Given the description of an element on the screen output the (x, y) to click on. 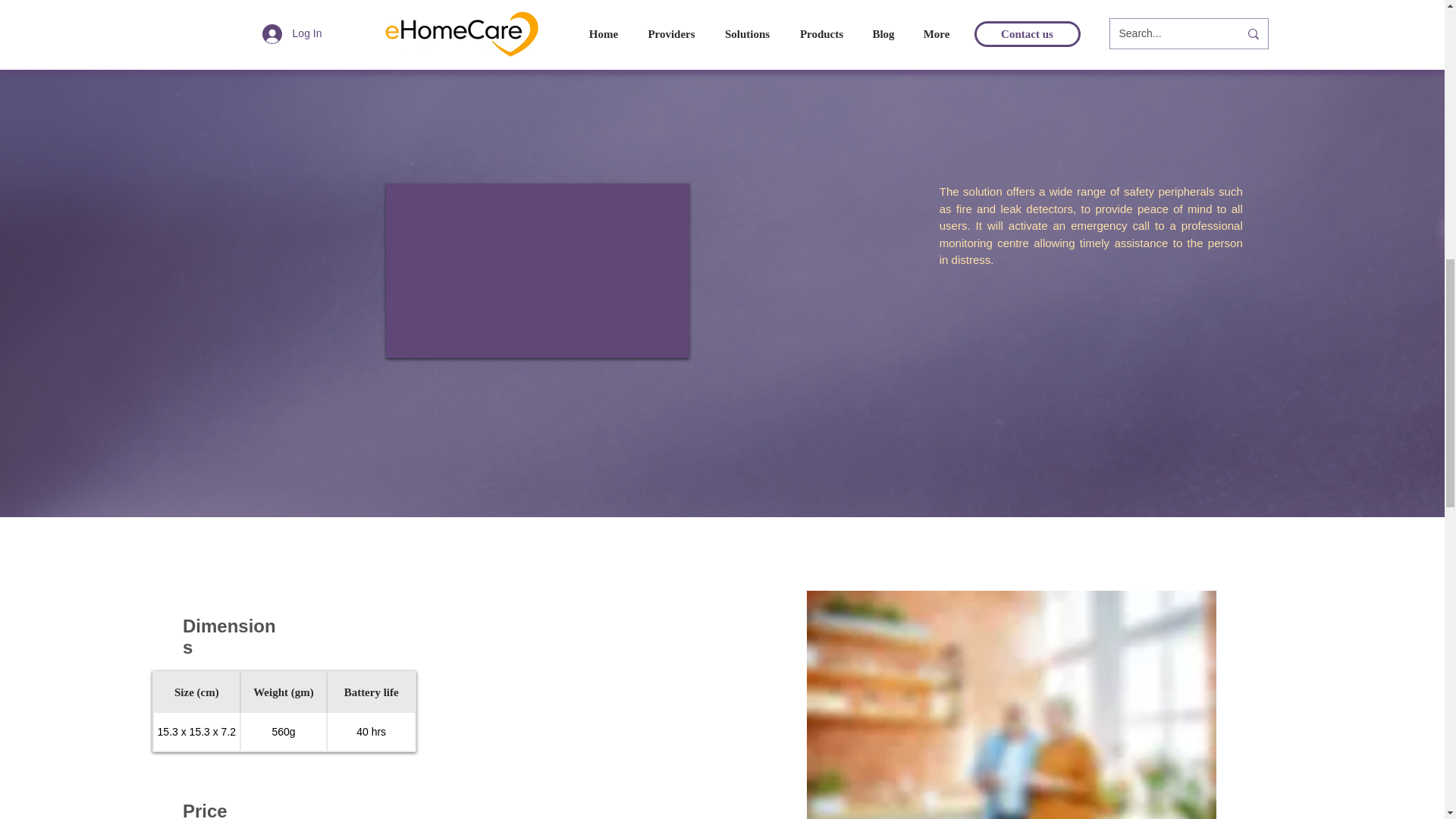
External YouTube (537, 270)
